Given the description of an element on the screen output the (x, y) to click on. 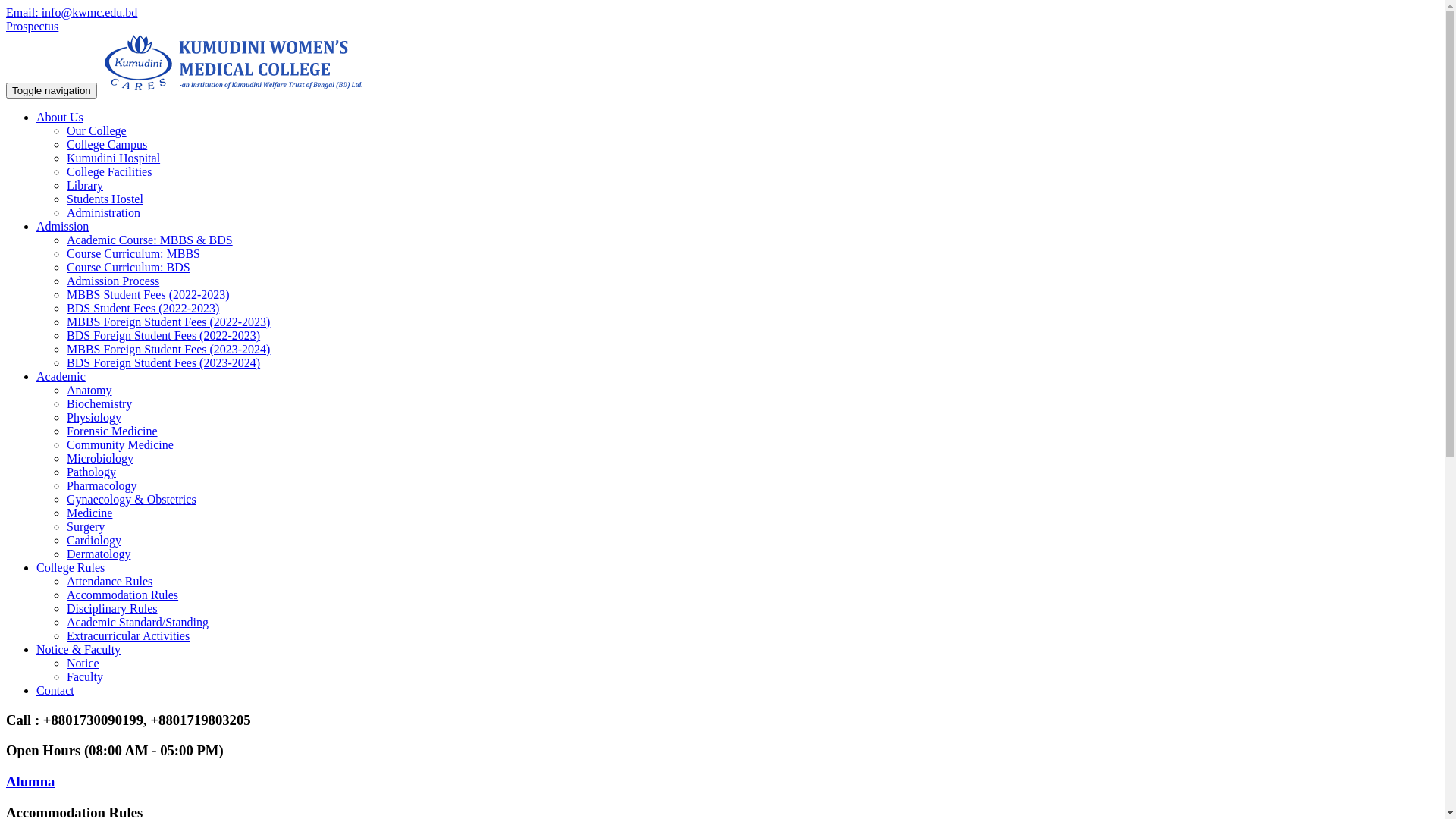
info@kwmc.edu.bd Element type: text (89, 12)
Disciplinary Rules Element type: text (111, 608)
Biochemistry Element type: text (98, 403)
Surgery Element type: text (85, 526)
Toggle navigation Element type: text (51, 90)
Medicine Element type: text (89, 512)
Kumudini Hospital Element type: text (113, 157)
MBBS Foreign Student Fees (2023-2024) Element type: text (167, 348)
College Facilities Element type: text (108, 171)
Attendance Rules Element type: text (109, 580)
Anatomy Element type: text (89, 389)
Contact Element type: text (55, 690)
Prospectus Element type: text (32, 25)
Our College Element type: text (96, 130)
Students Hostel Element type: text (104, 198)
Cardiology Element type: text (93, 539)
Academic Course: MBBS & BDS Element type: text (149, 239)
Pathology Element type: text (91, 471)
Course Curriculum: BDS Element type: text (128, 266)
BDS Foreign Student Fees (2022-2023) Element type: text (163, 335)
Academic Element type: text (60, 376)
Gynaecology & Obstetrics Element type: text (131, 498)
BDS Student Fees (2022-2023) Element type: text (142, 307)
Extracurricular Activities Element type: text (127, 635)
Microbiology Element type: text (99, 457)
College Rules Element type: text (70, 567)
Community Medicine Element type: text (119, 444)
Course Curriculum: MBBS Element type: text (133, 253)
College Campus Element type: text (106, 144)
Administration Element type: text (103, 212)
MBBS Foreign Student Fees (2022-2023) Element type: text (167, 321)
Notice Element type: text (82, 662)
MBBS Student Fees (2022-2023) Element type: text (147, 294)
Forensic Medicine Element type: text (111, 430)
Accommodation Rules Element type: text (122, 594)
Faculty Element type: text (84, 676)
Pharmacology Element type: text (101, 485)
Academic Standard/Standing Element type: text (137, 621)
Physiology Element type: text (93, 417)
BDS Foreign Student Fees (2023-2024) Element type: text (163, 362)
Email: Element type: text (23, 12)
Library Element type: text (84, 184)
Alumna Element type: text (722, 781)
Dermatology Element type: text (98, 553)
Admission Element type: text (62, 225)
About Us Element type: text (59, 116)
Notice & Faculty Element type: text (78, 649)
Admission Process Element type: text (112, 280)
